Given the description of an element on the screen output the (x, y) to click on. 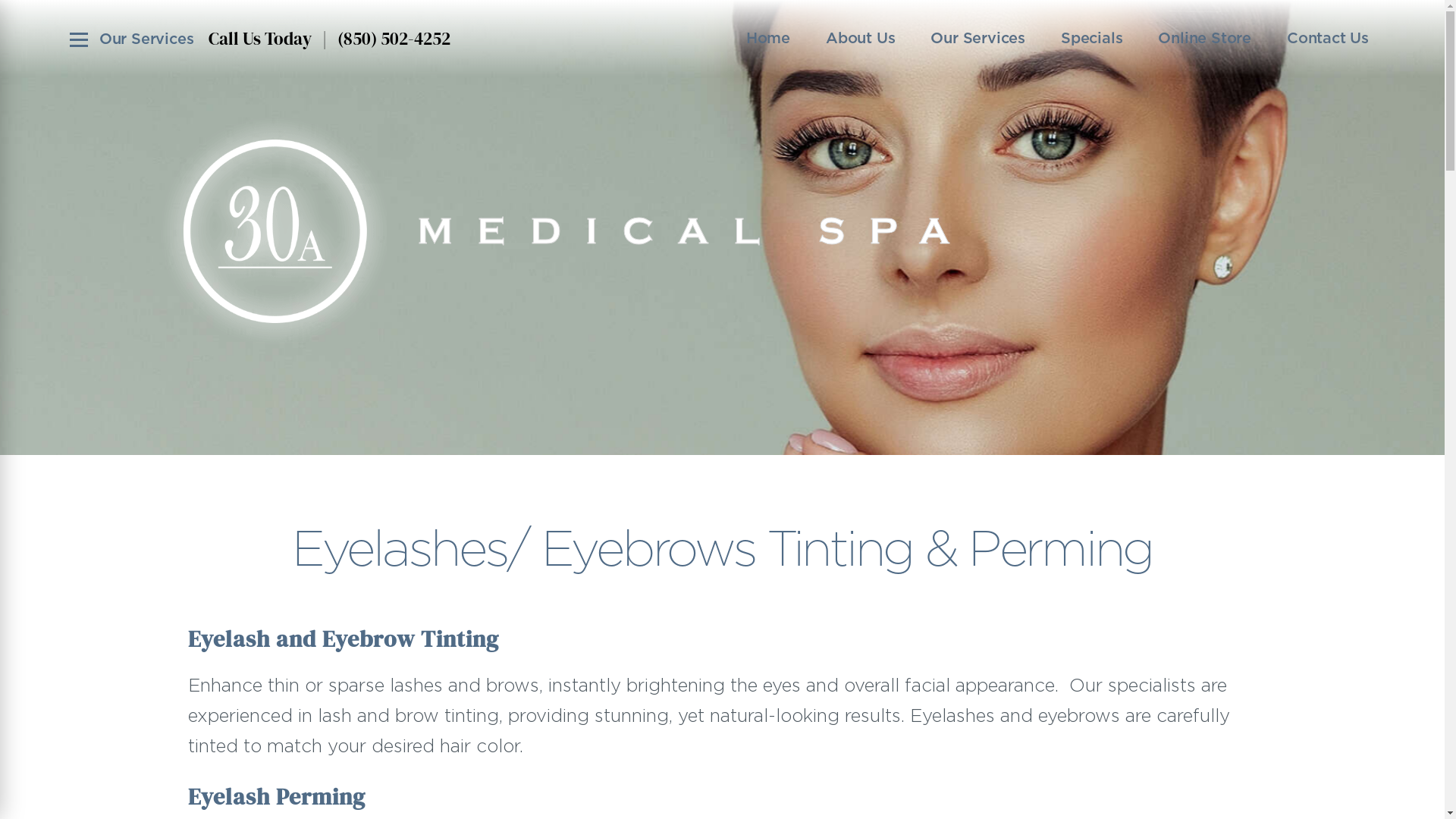
Home Element type: text (768, 37)
About Us Element type: text (859, 37)
(850) 502-4252 Element type: text (393, 37)
Online Store Element type: text (1204, 37)
Specials Element type: text (1091, 37)
Contact Us Element type: text (1327, 37)
Our Services Element type: text (977, 37)
